Given the description of an element on the screen output the (x, y) to click on. 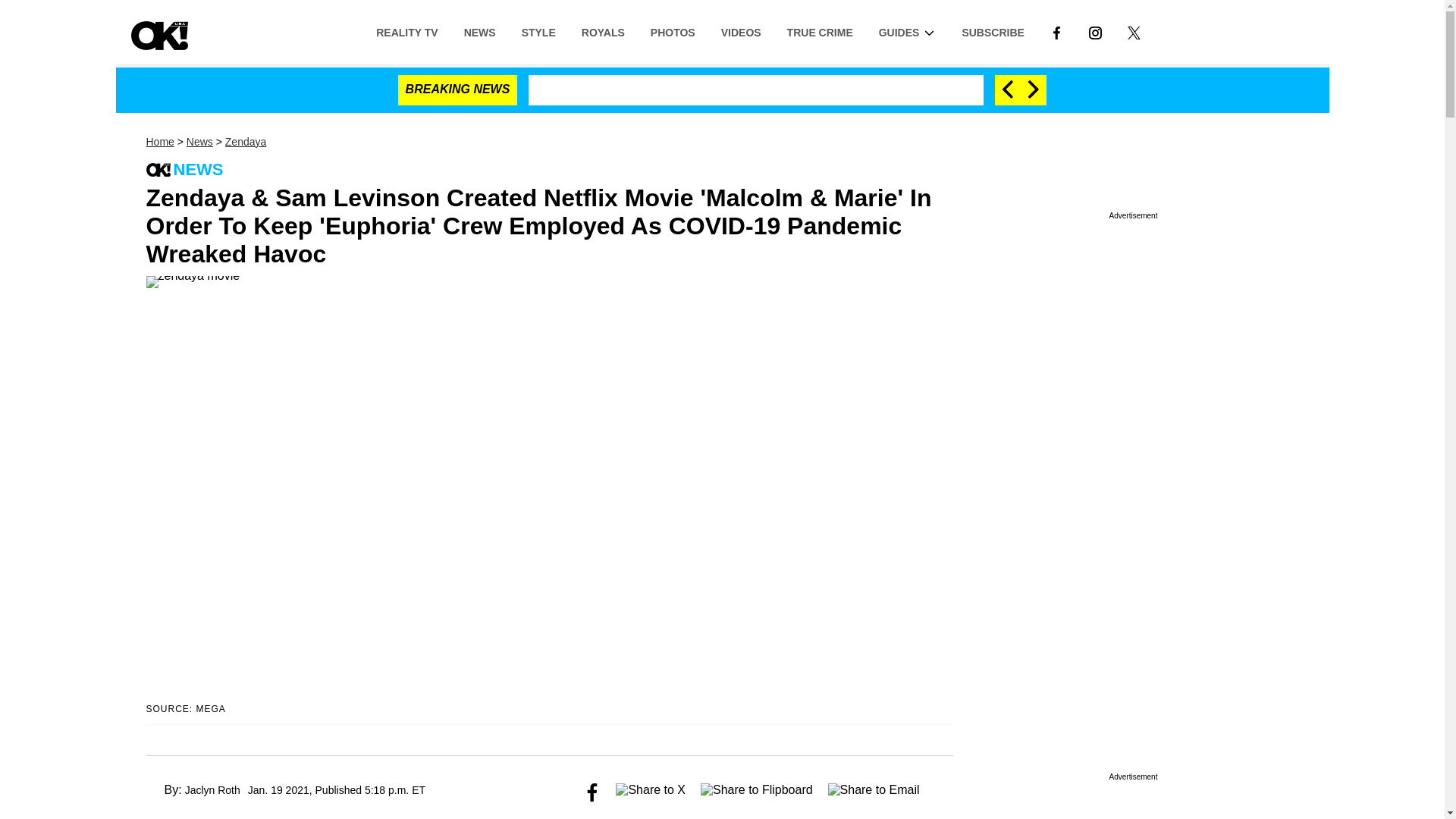
Share to X (650, 791)
Home (159, 141)
LINK TO FACEBOOK (1055, 31)
Link to Facebook (1055, 31)
VIDEOS (740, 31)
Link to X (1134, 31)
ROYALS (603, 31)
Zendaya (245, 141)
LINK TO INSTAGRAM (1095, 32)
PHOTOS (672, 31)
